Given the description of an element on the screen output the (x, y) to click on. 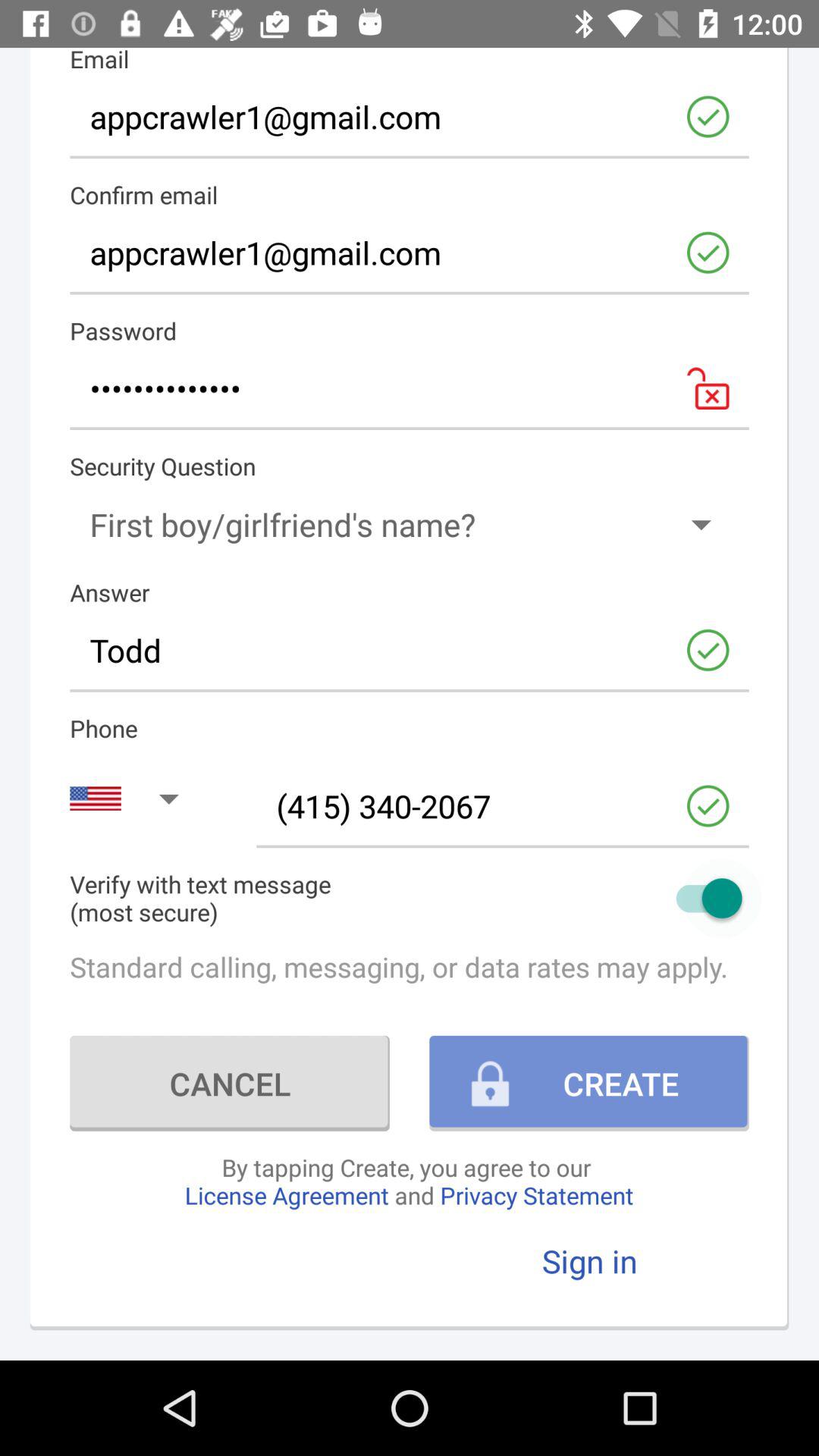
launch item below (415) 340-2067 icon (409, 897)
